Given the description of an element on the screen output the (x, y) to click on. 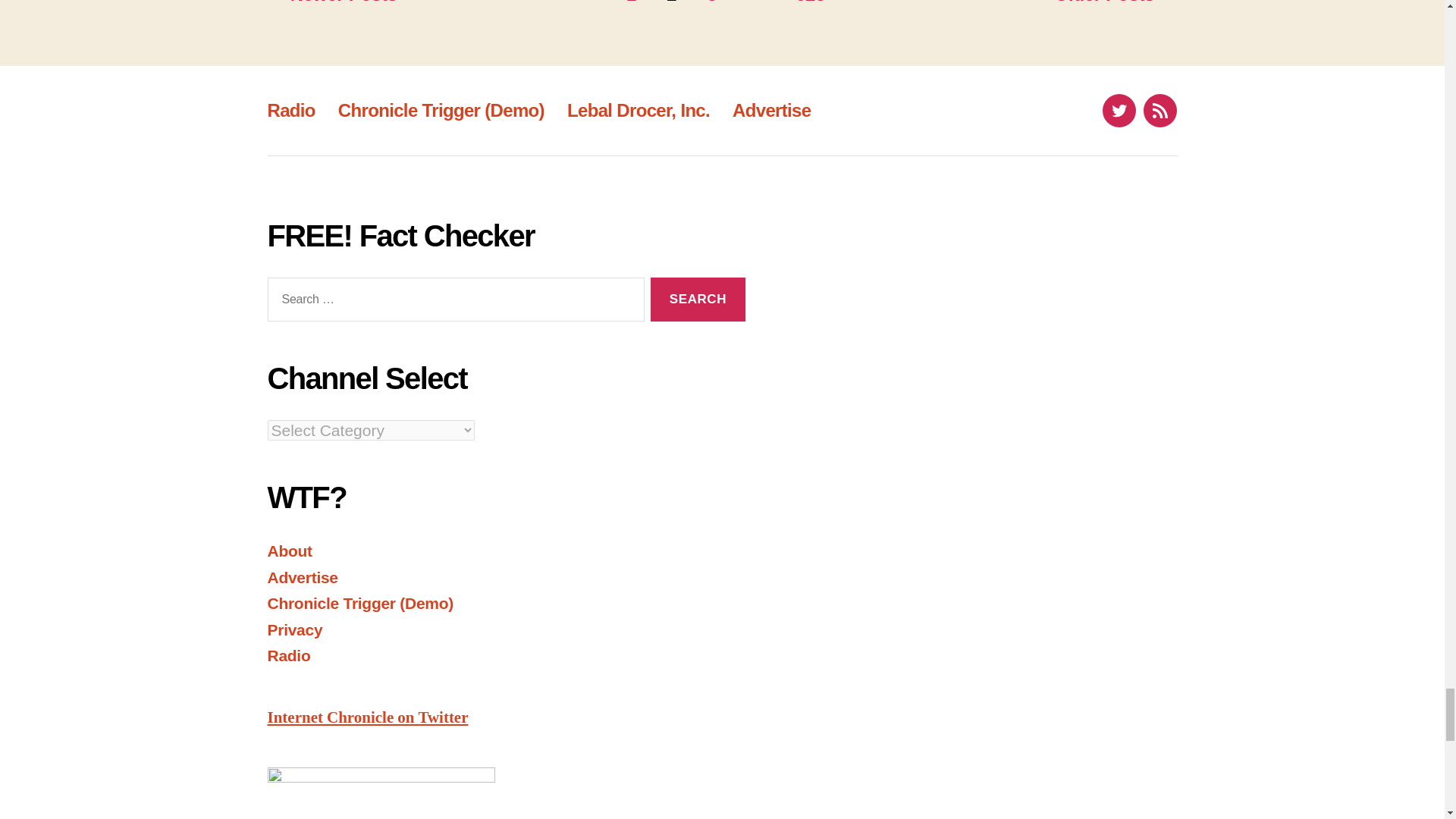
3 (711, 2)
Search (697, 299)
1 (631, 2)
Radio (290, 109)
Search (697, 299)
628 (809, 2)
